Given the description of an element on the screen output the (x, y) to click on. 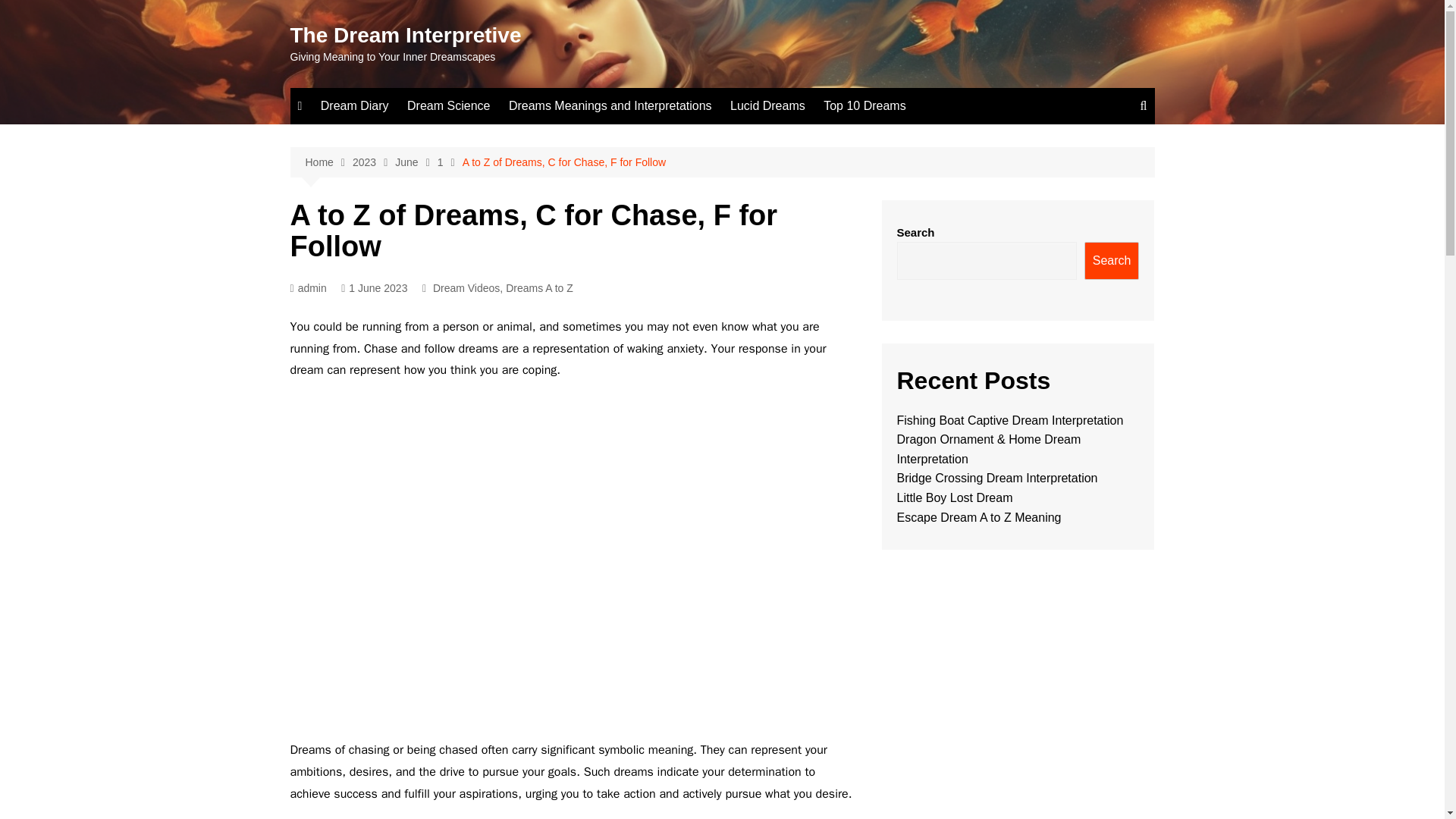
Dreams A to Z (539, 288)
Dream Science (447, 105)
Dreams Meanings and Interpretations (609, 105)
admin (307, 288)
June (415, 162)
1 (450, 162)
2023 (373, 162)
Home (328, 162)
Lucid Dreams (767, 105)
